Given the description of an element on the screen output the (x, y) to click on. 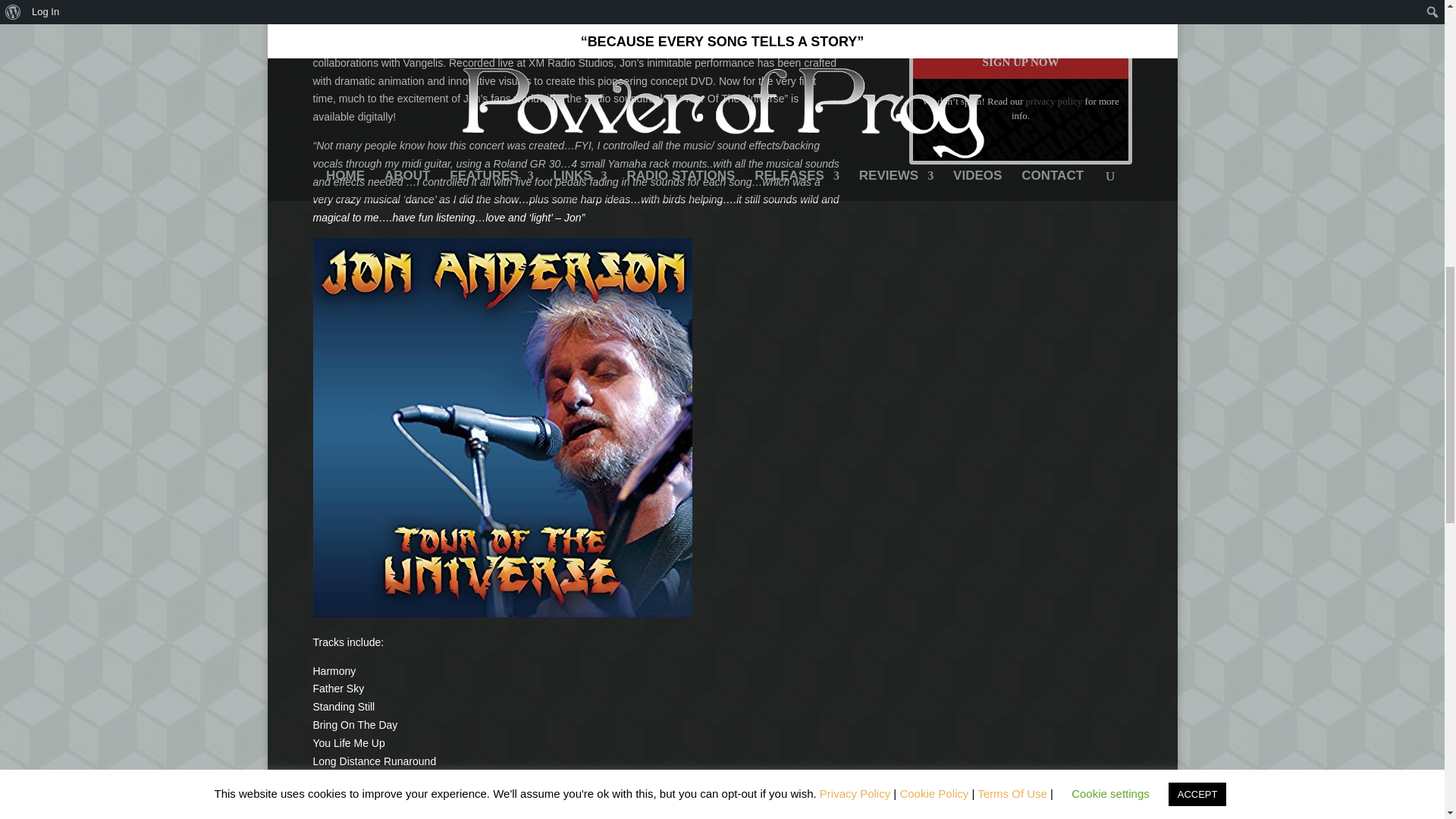
SIGN UP NOW (1020, 61)
Email Address (1020, 15)
